Given the description of an element on the screen output the (x, y) to click on. 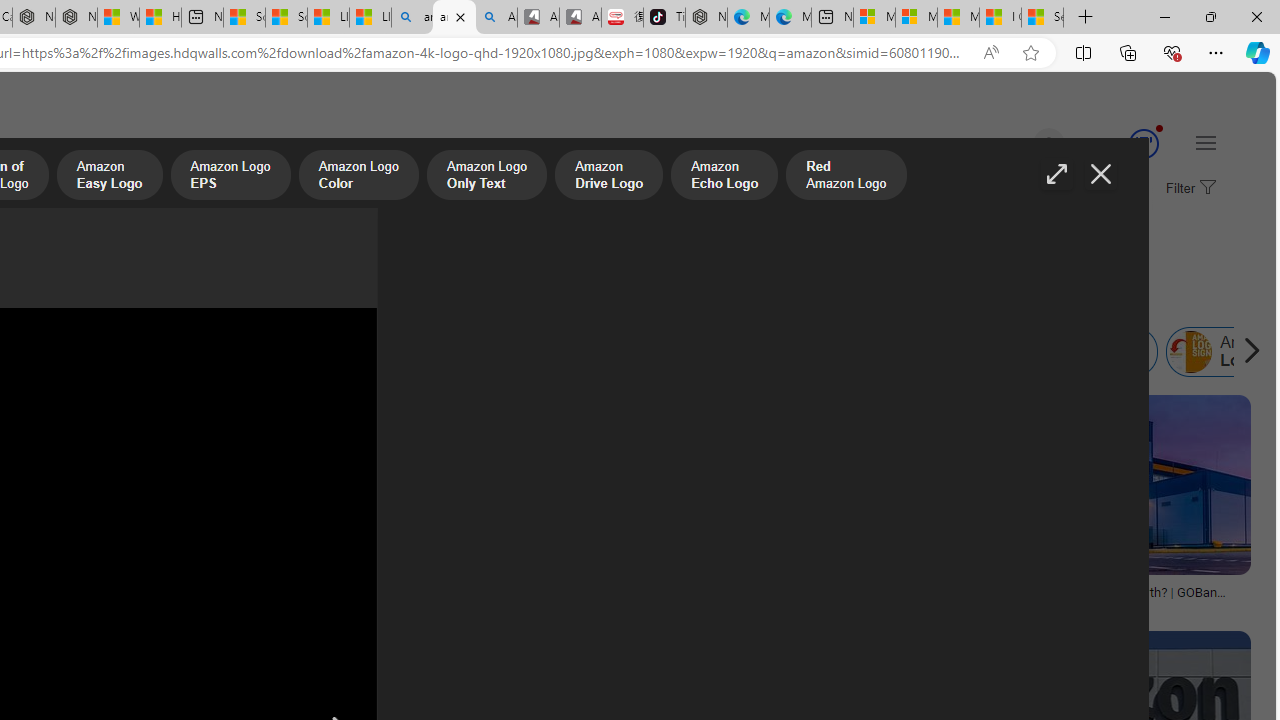
Red Amazon Logo (845, 177)
amazon - Search Images (453, 17)
Image result for amazon (1103, 485)
hdqwalls.com (802, 606)
Amazon Logo EPS (230, 177)
How Much Is Amazon's Net Worth? | GOBankingRates (1103, 598)
Filter (1188, 189)
Microsoft account | Privacy (916, 17)
Scroll right (1246, 351)
